Given the description of an element on the screen output the (x, y) to click on. 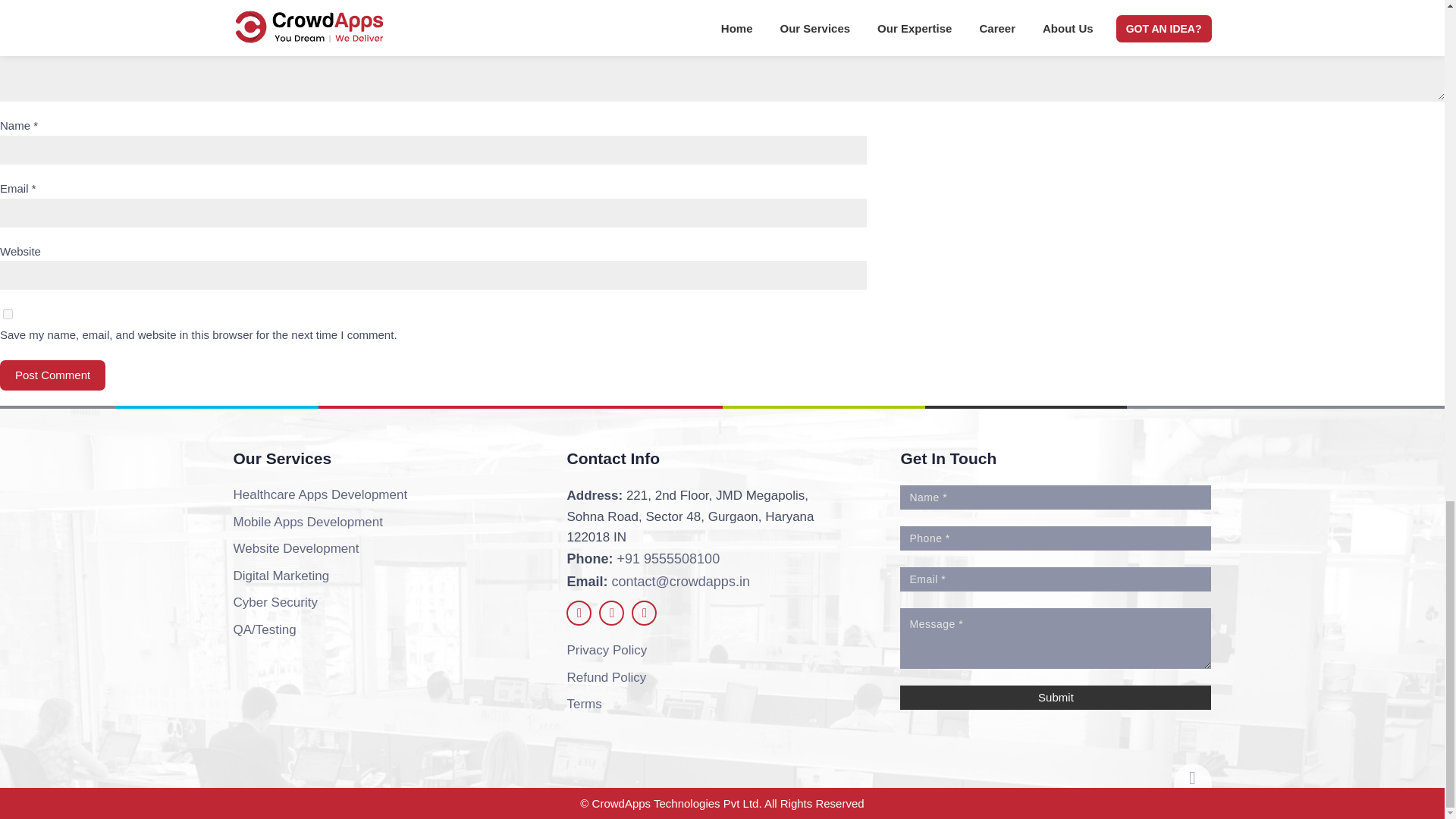
Website Development (295, 548)
Submit (1055, 697)
LinkedIn (643, 612)
Digital Marketing (281, 576)
Facebook (578, 612)
Terms (583, 703)
Privacy Policy (606, 649)
yes (7, 314)
Mobile Apps Development (308, 521)
Post Comment (52, 375)
Post Comment (52, 375)
Submit (1055, 697)
Refund Policy (606, 677)
Healthcare Apps Development (319, 494)
Cyber Security (274, 602)
